Given the description of an element on the screen output the (x, y) to click on. 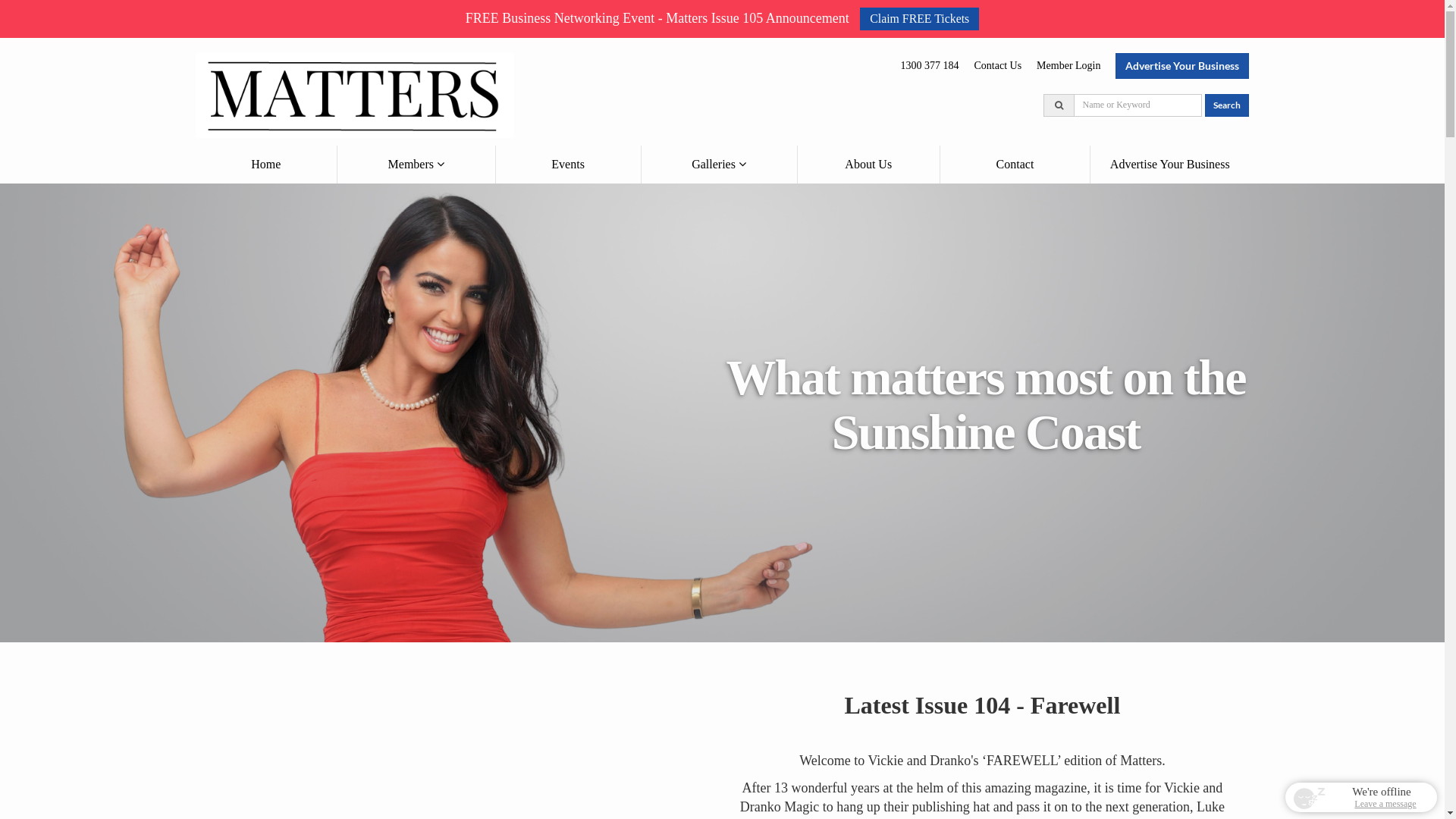
Events Element type: text (567, 164)
Claim FREE Tickets Element type: text (919, 18)
Member Login Element type: text (1071, 64)
About Us Element type: text (868, 164)
Contact Element type: text (1014, 164)
Advertise Your Business Element type: text (1169, 164)
Galleries Element type: text (719, 164)
Home Element type: text (265, 164)
Contact Us Element type: text (997, 64)
Advertise Your Business Element type: text (1181, 65)
Members Element type: text (416, 164)
Search Element type: text (1226, 105)
Matters Magazine Element type: hover (354, 93)
